Given the description of an element on the screen output the (x, y) to click on. 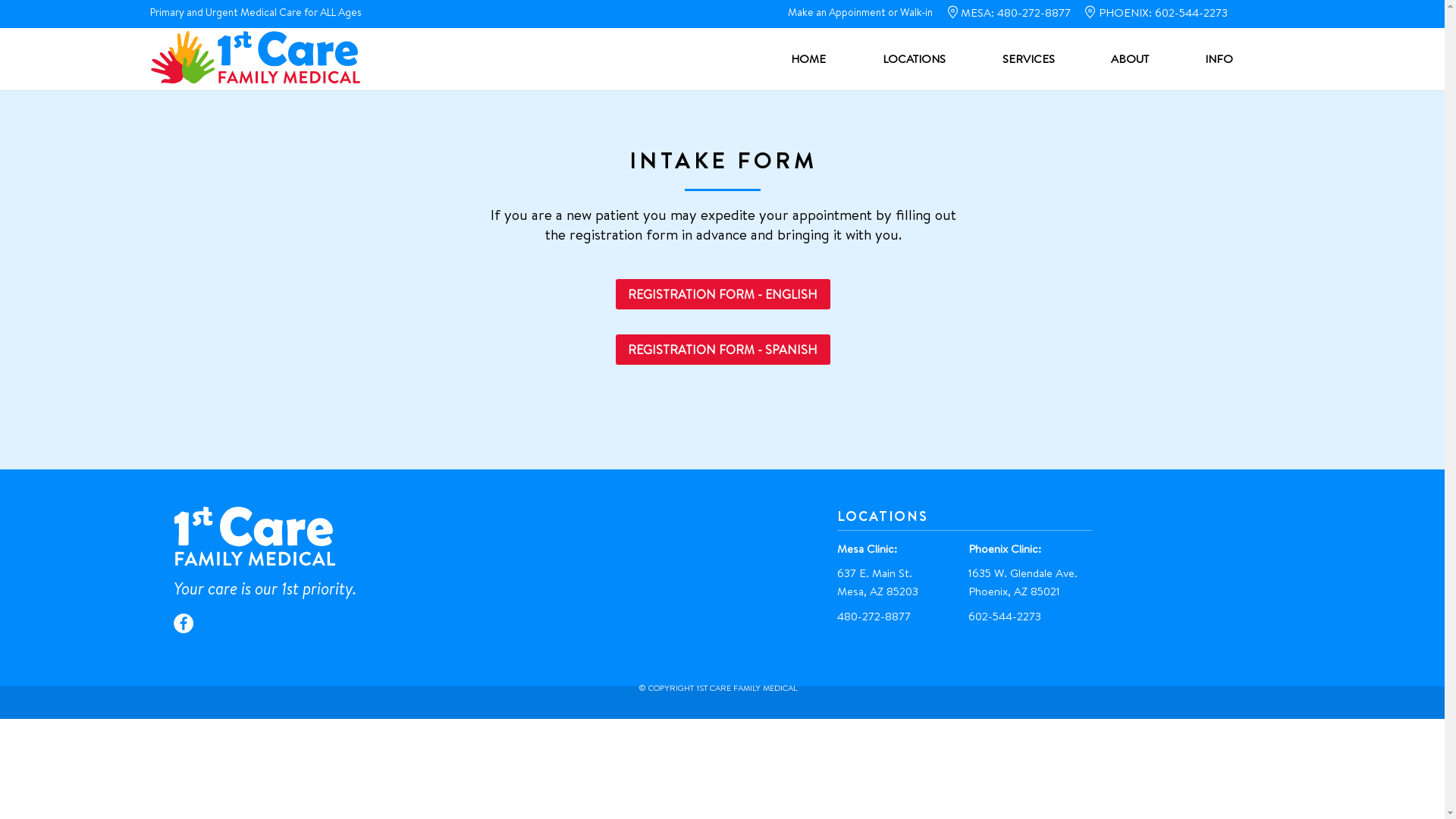
480-272-8877 Element type: text (1033, 12)
Facebook Like Element type: hover (315, 622)
480-272-8877 Element type: text (873, 616)
602-544-2273 Element type: text (1003, 616)
REGISTRATION FORM - SPANISH Element type: text (722, 349)
602-544-2273 Element type: text (1190, 12)
HOME Element type: text (825, 58)
REGISTRATION FORM - ENGLISH Element type: text (722, 294)
SERVICES Element type: text (1045, 58)
